Given the description of an element on the screen output the (x, y) to click on. 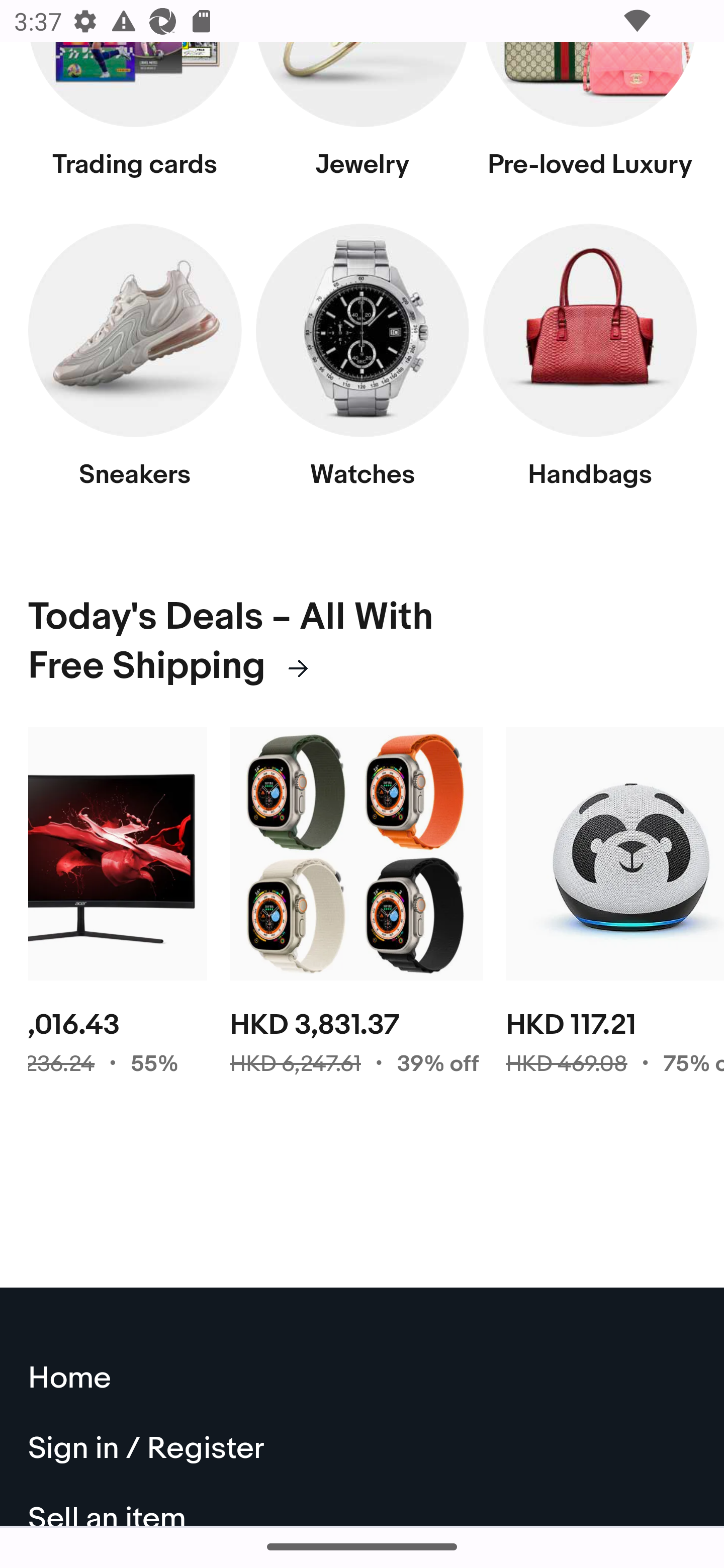
Trading cards (135, 120)
Jewelry (361, 120)
Pre-loved Luxury (590, 120)
Sneakers (135, 366)
Watches (361, 366)
Handbags (590, 366)
Home (363, 1380)
Sign in / Register (363, 1451)
Sell an item (363, 1505)
